Given the description of an element on the screen output the (x, y) to click on. 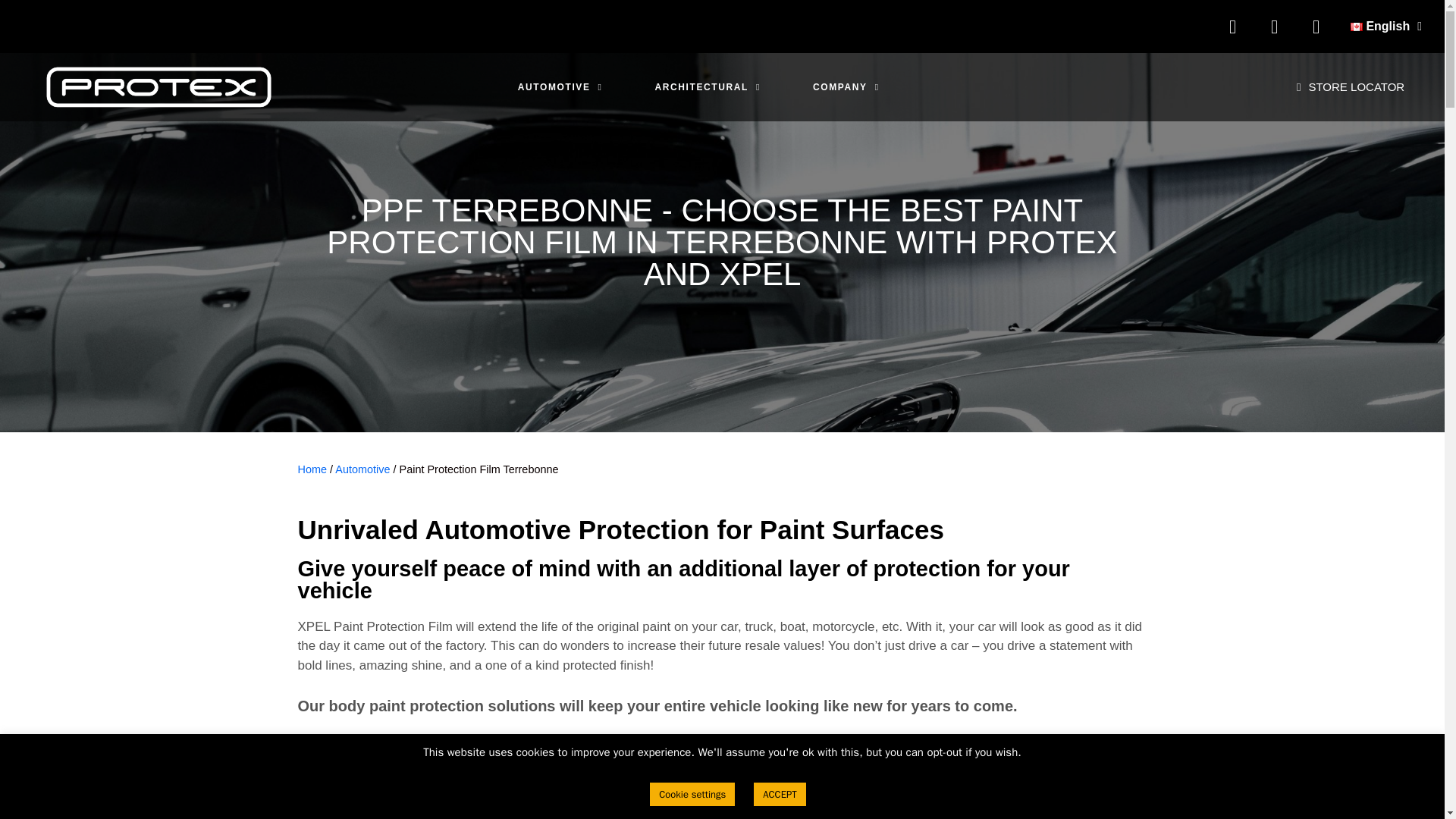
English (1386, 26)
AUTOMOTIVE (560, 64)
COMPANY (845, 85)
ARCHITECTURAL (708, 81)
